Given the description of an element on the screen output the (x, y) to click on. 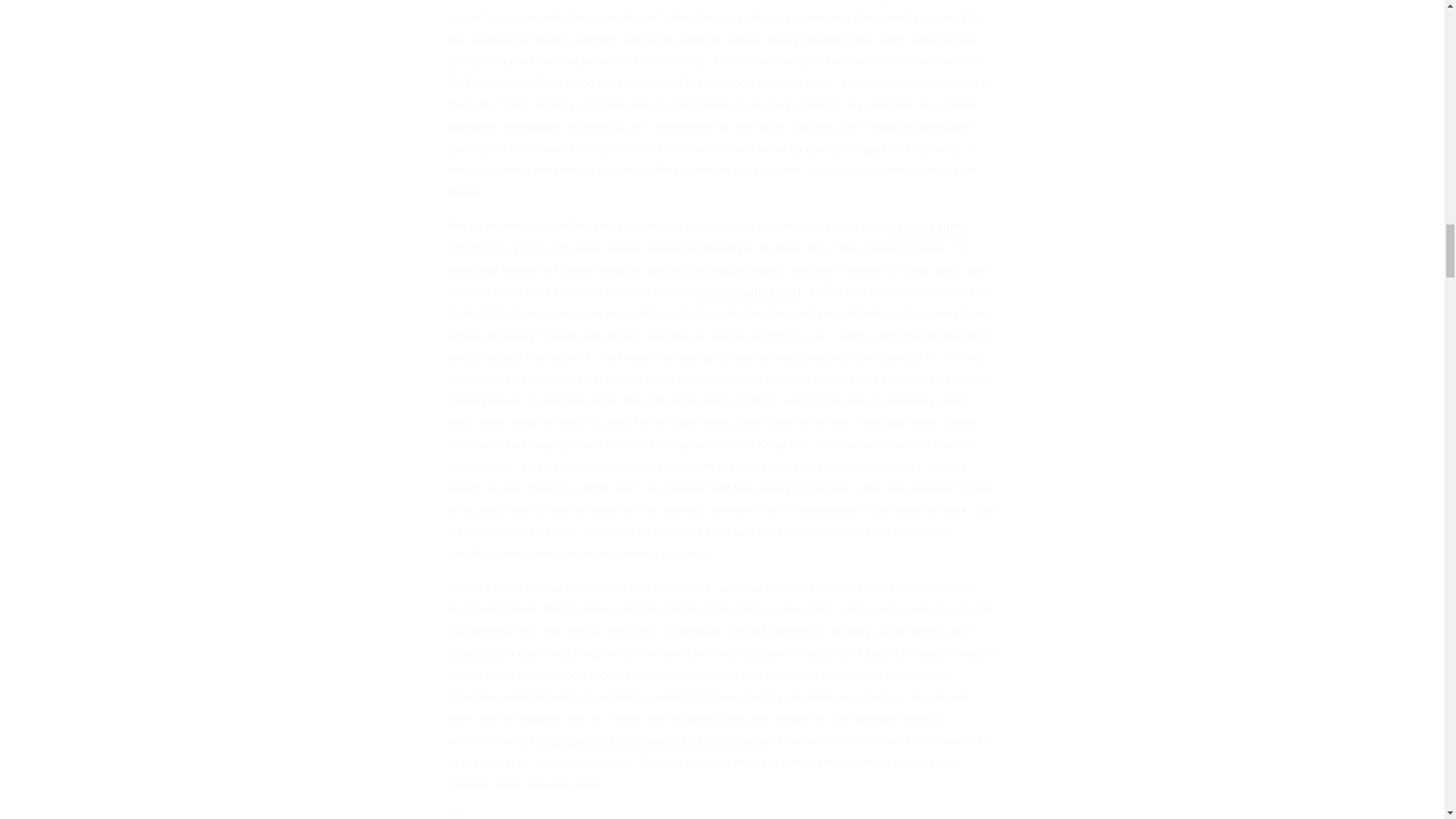
became good friends ten years ago (707, 237)
a cheap queen-sized mattress from Amazon (646, 739)
where she made music (715, 269)
my Manhattan nest (746, 291)
